Given the description of an element on the screen output the (x, y) to click on. 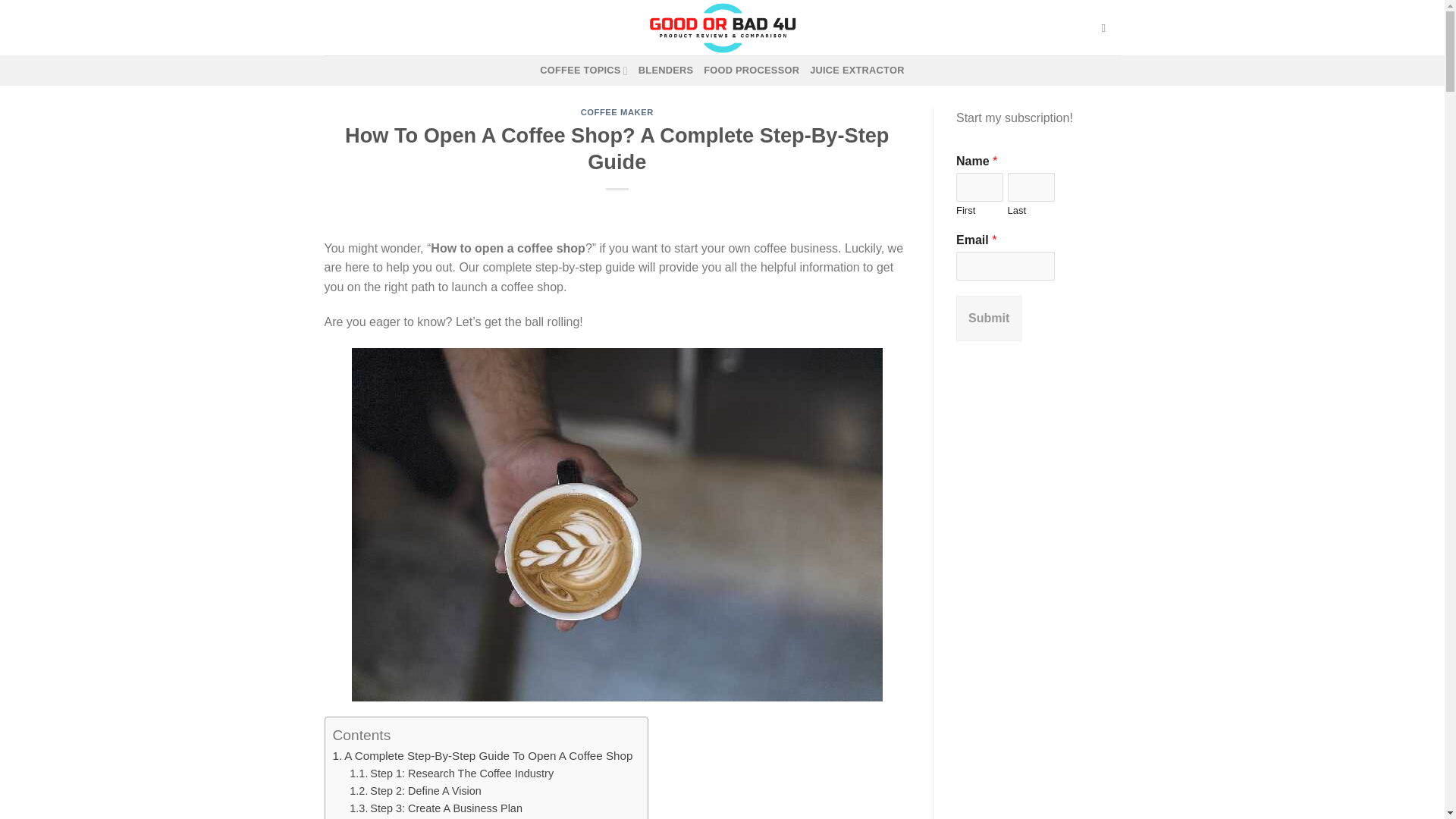
COFFEE MAKER (616, 112)
Step 1: Research The Coffee Industry (461, 773)
COFFEE TOPICS (583, 70)
Step 1: Research The Coffee Industry (461, 773)
Step 2: Define A Vision (425, 790)
BLENDERS (666, 70)
A Complete Step-By-Step Guide To Open A Coffee Shop (487, 755)
Step 3: Create A Business Plan (445, 808)
Step 2: Define A Vision (425, 790)
JUICE EXTRACTOR (856, 70)
